Given the description of an element on the screen output the (x, y) to click on. 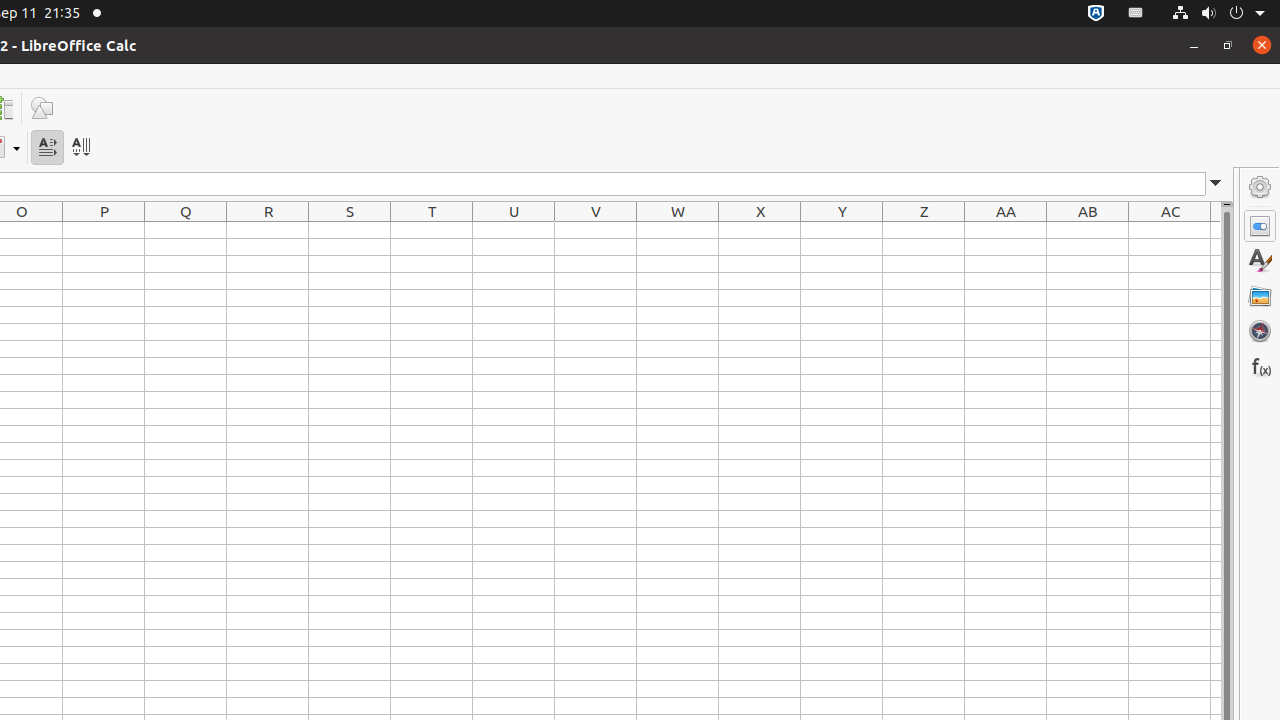
T1 Element type: table-cell (432, 230)
R1 Element type: table-cell (268, 230)
Gallery Element type: radio-button (1260, 296)
AD1 Element type: table-cell (1216, 230)
P1 Element type: table-cell (104, 230)
